Given the description of an element on the screen output the (x, y) to click on. 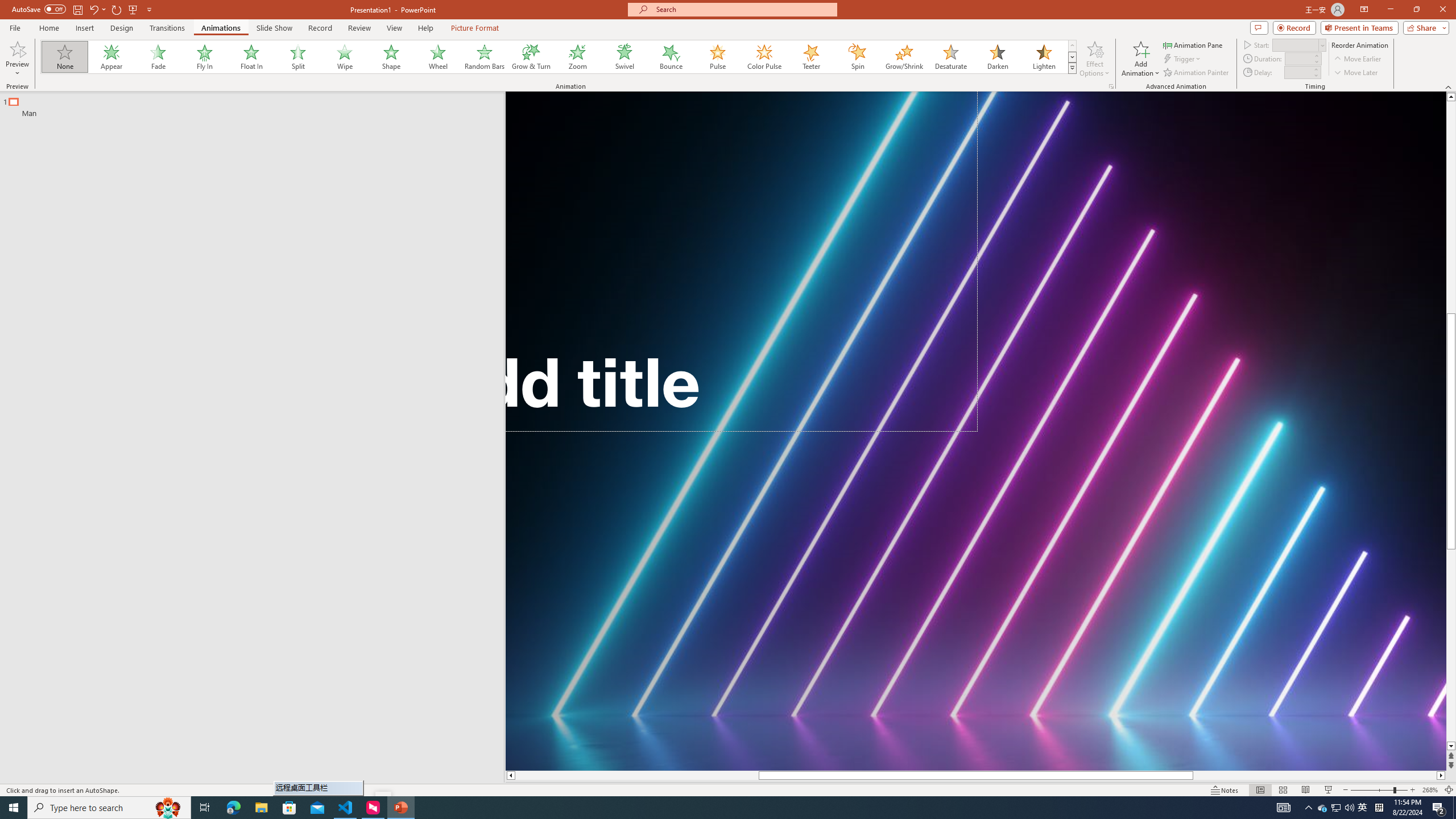
Move Earlier (1357, 58)
Grow & Turn (531, 56)
Pulse (717, 56)
Add Animation (1141, 58)
Zoom 268% (1430, 790)
